Given the description of an element on the screen output the (x, y) to click on. 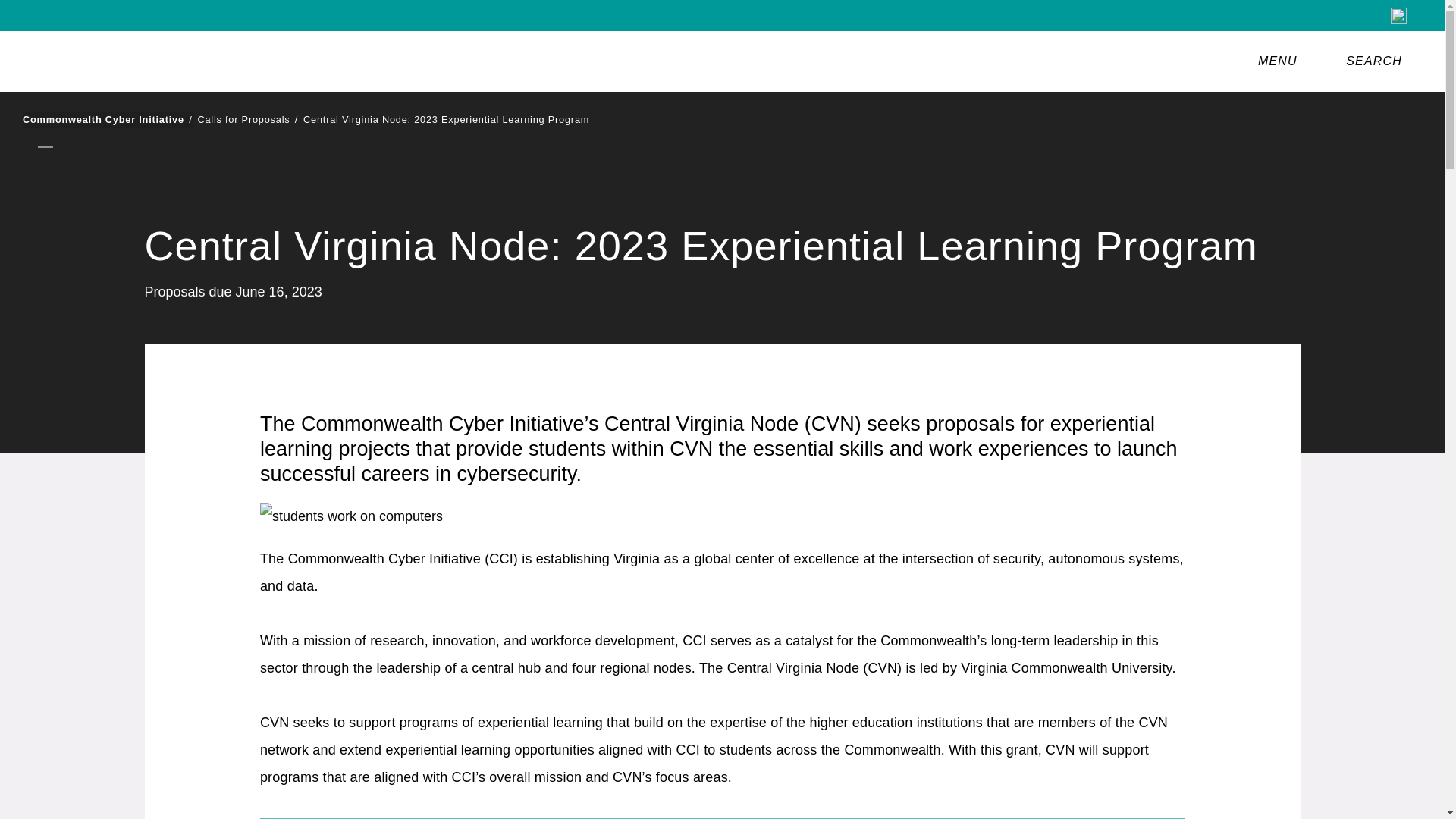
students work on computers (351, 515)
Universal Access Toggle (1398, 15)
MENU (1280, 61)
